Given the description of an element on the screen output the (x, y) to click on. 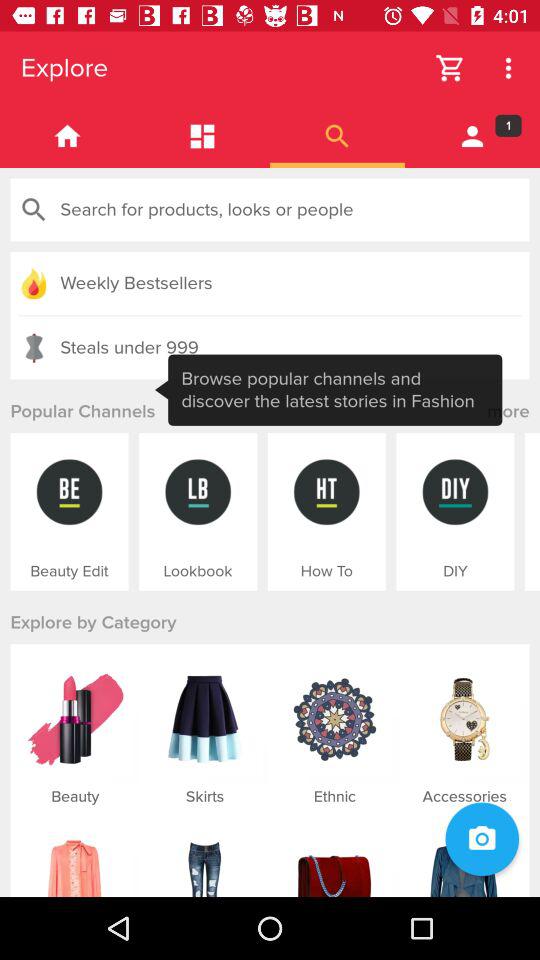
shopping cart (450, 68)
